Given the description of an element on the screen output the (x, y) to click on. 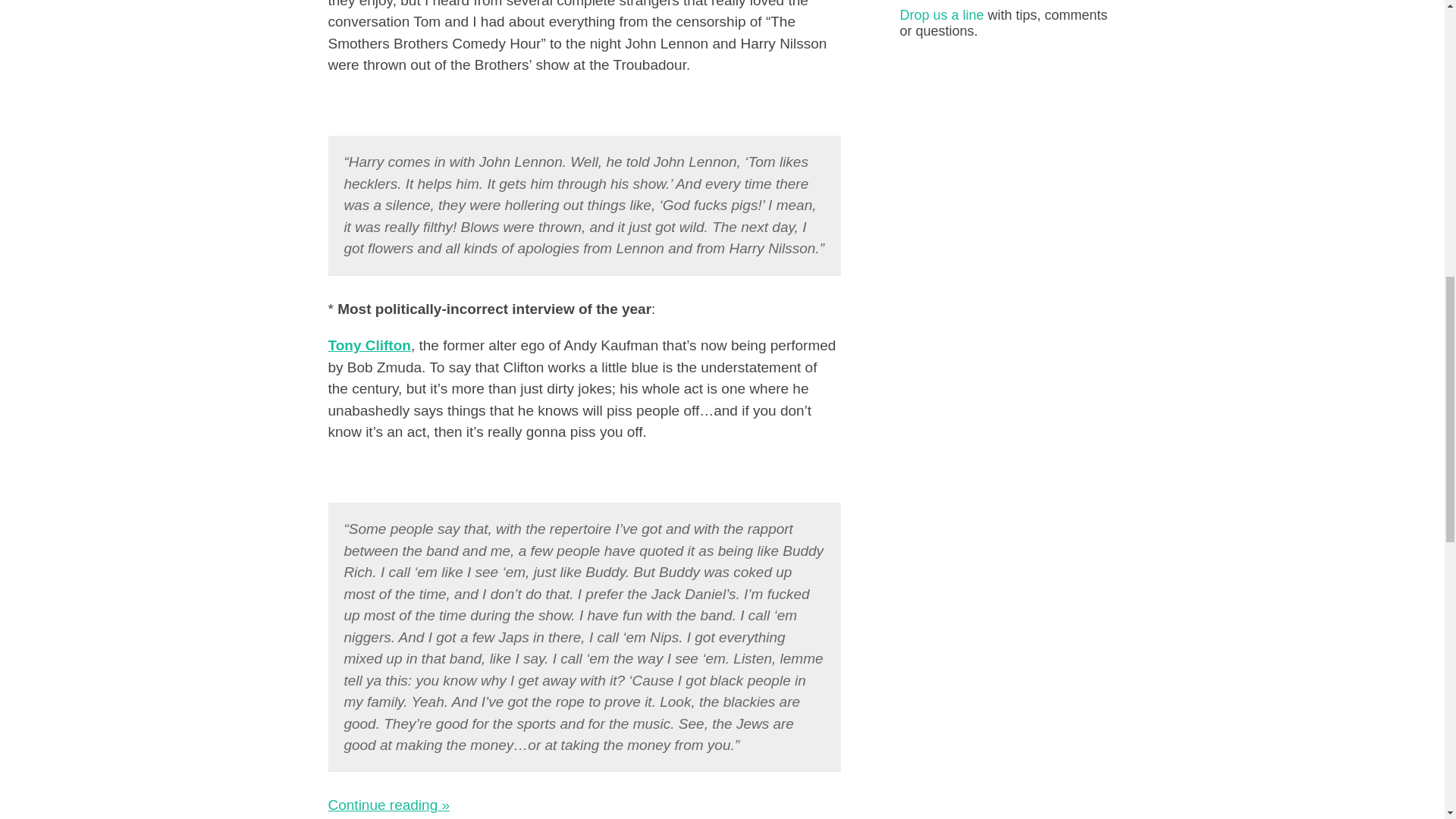
Tony Clifton (368, 344)
